Given the description of an element on the screen output the (x, y) to click on. 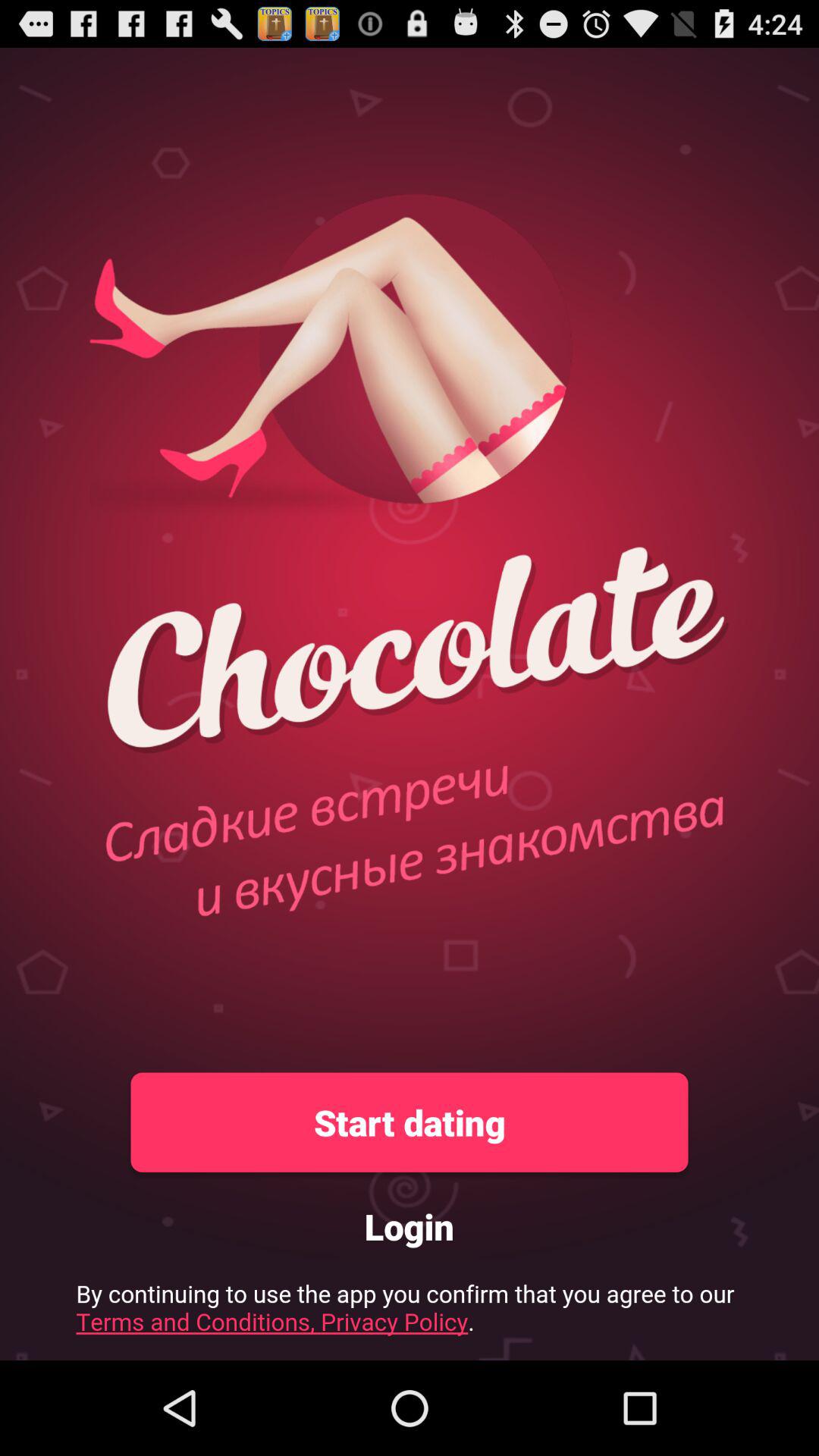
advertisement (409, 1312)
